Given the description of an element on the screen output the (x, y) to click on. 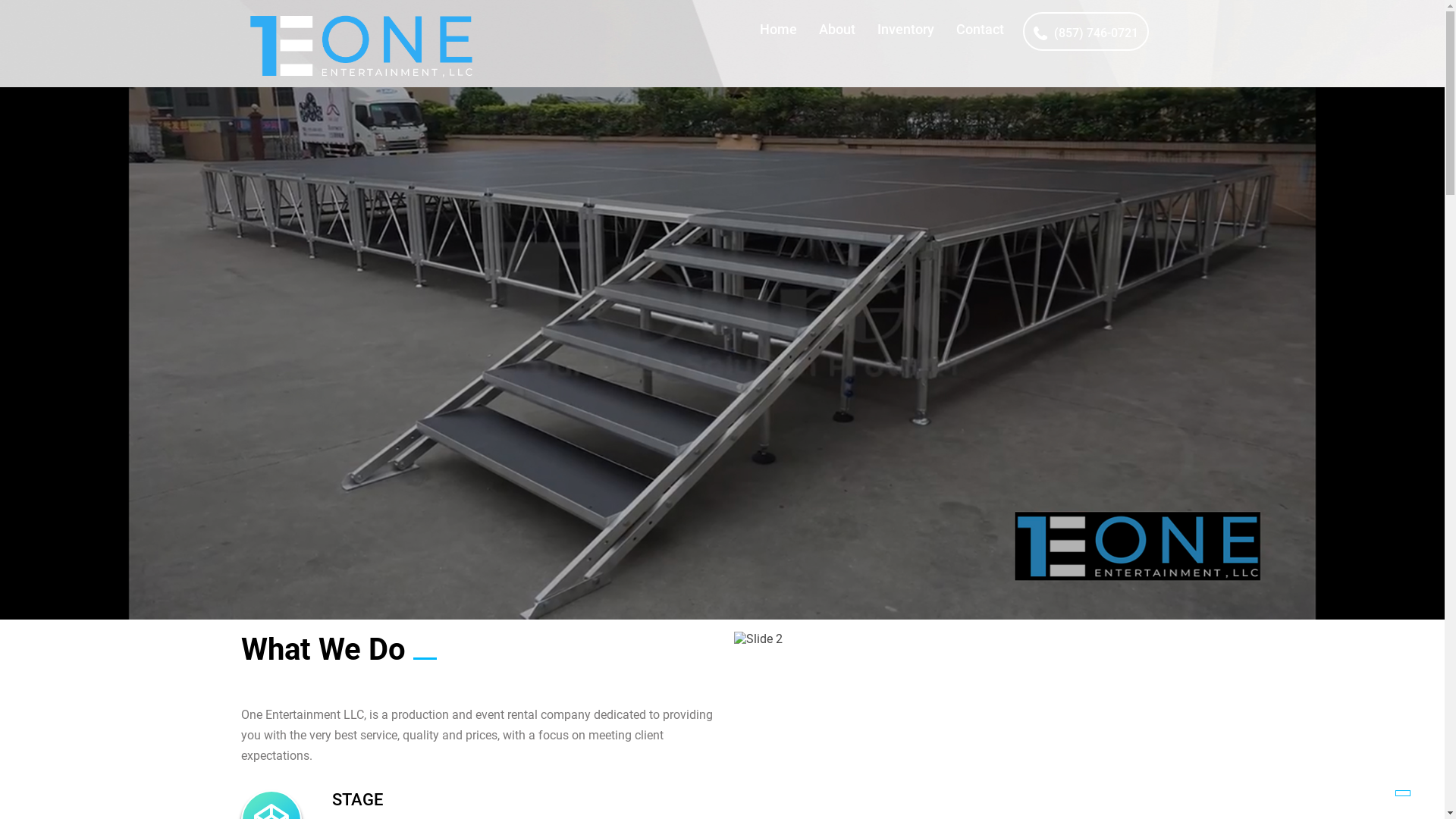
(857) 746-0721 Element type: text (1085, 31)
Home Element type: text (778, 29)
Contact Element type: text (979, 29)
About Element type: text (836, 29)
Inventory Element type: text (905, 29)
